Given the description of an element on the screen output the (x, y) to click on. 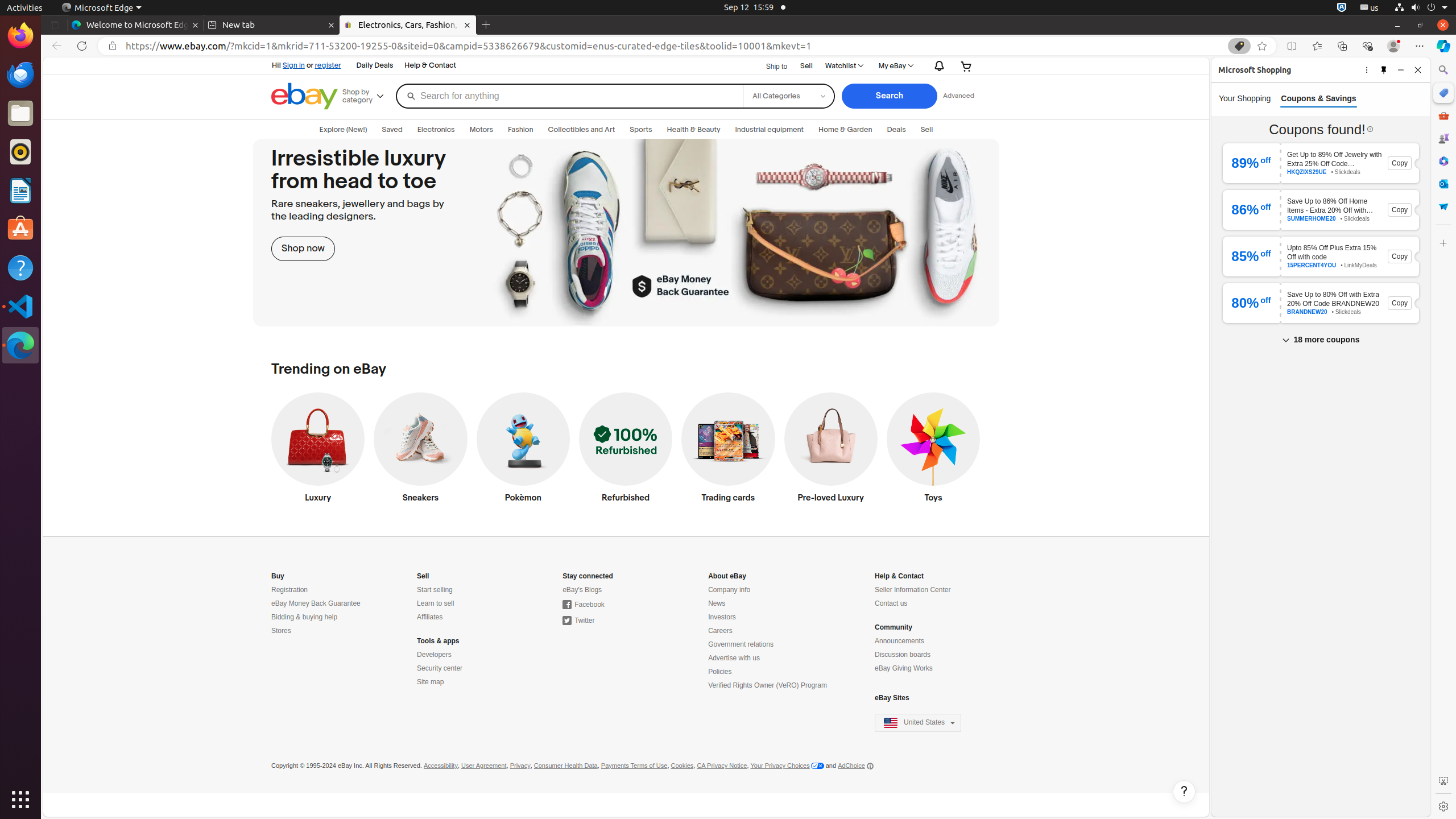
Luxury Element type: link (318, 450)
:1.21/StatusNotifierItem Element type: menu (1369, 7)
Ship to Element type: push-button (769, 66)
Careers Element type: link (720, 630)
About eBay Element type: link (727, 576)
